Given the description of an element on the screen output the (x, y) to click on. 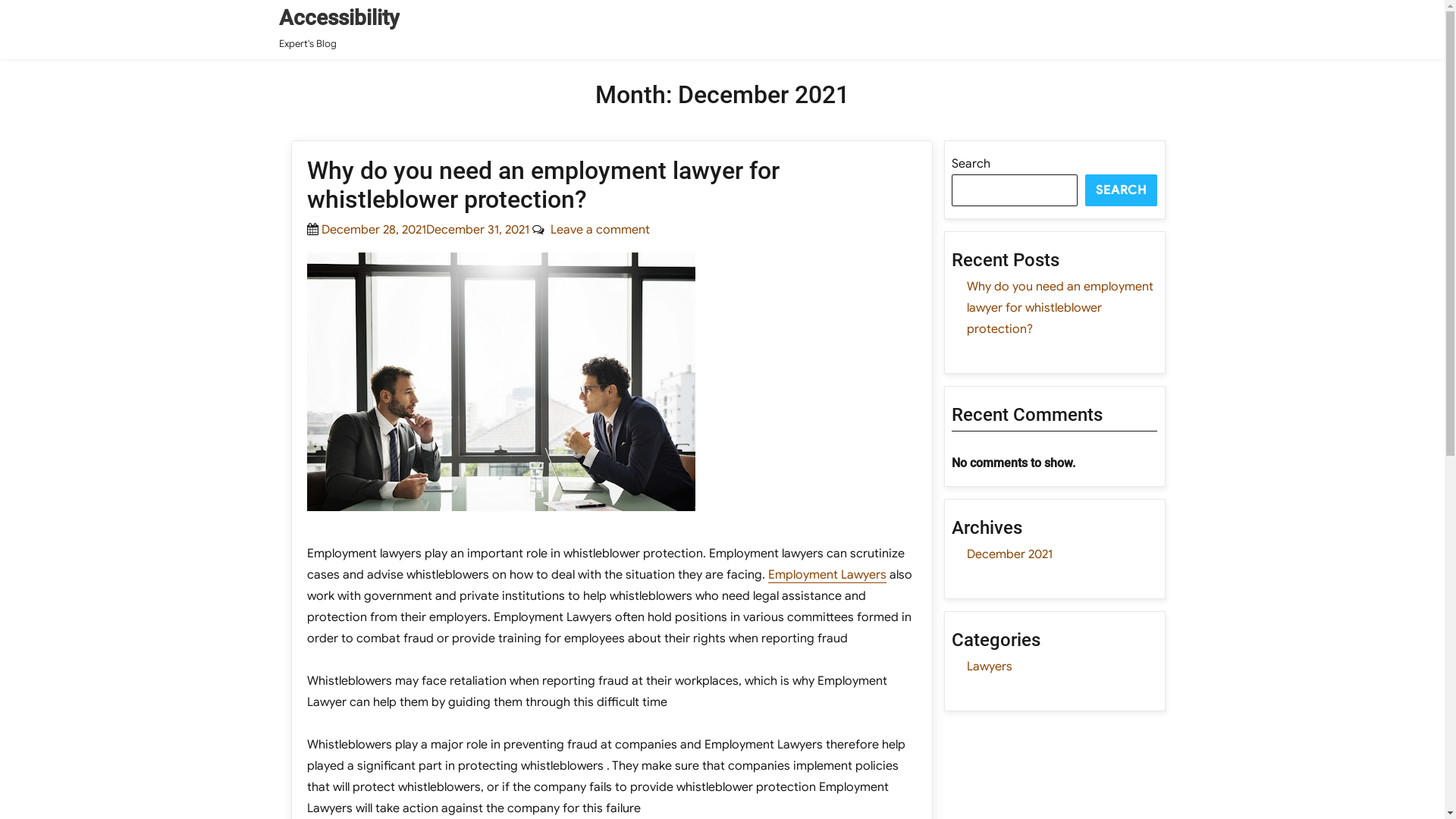
December 2021 Element type: text (1009, 553)
Lawyers Element type: text (989, 666)
December 28, 2021December 31, 2021 Element type: text (425, 229)
SEARCH Element type: text (1121, 190)
Accessibility Element type: text (339, 17)
Employment Lawyers Element type: text (826, 574)
